Given the description of an element on the screen output the (x, y) to click on. 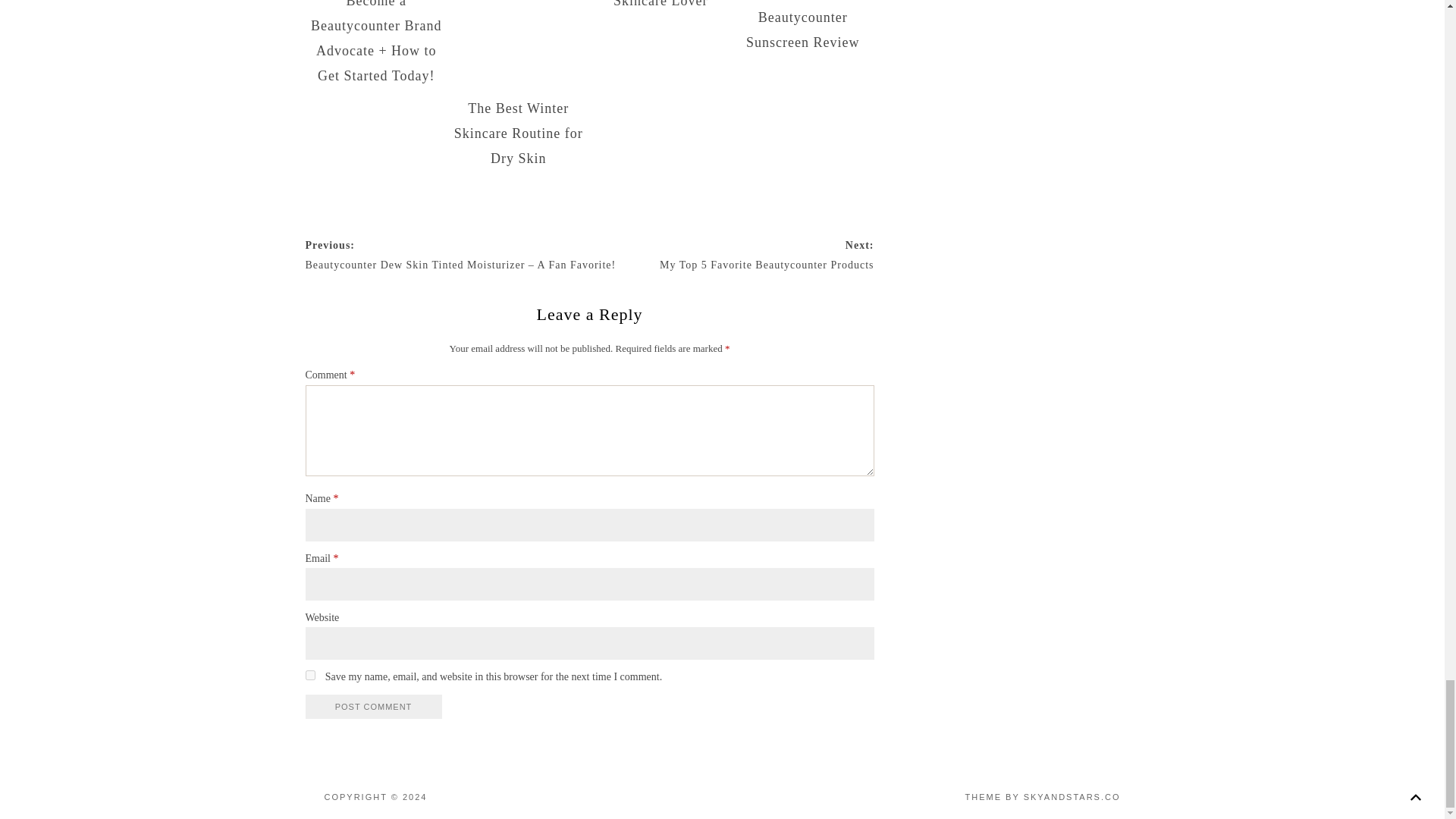
Permanent Link to Beautycounter Sunscreen Review (801, 29)
yes (309, 675)
Permanent Link to 5 Gift Ideas for the Skincare Lover (660, 6)
Post Comment (372, 706)
